Given the description of an element on the screen output the (x, y) to click on. 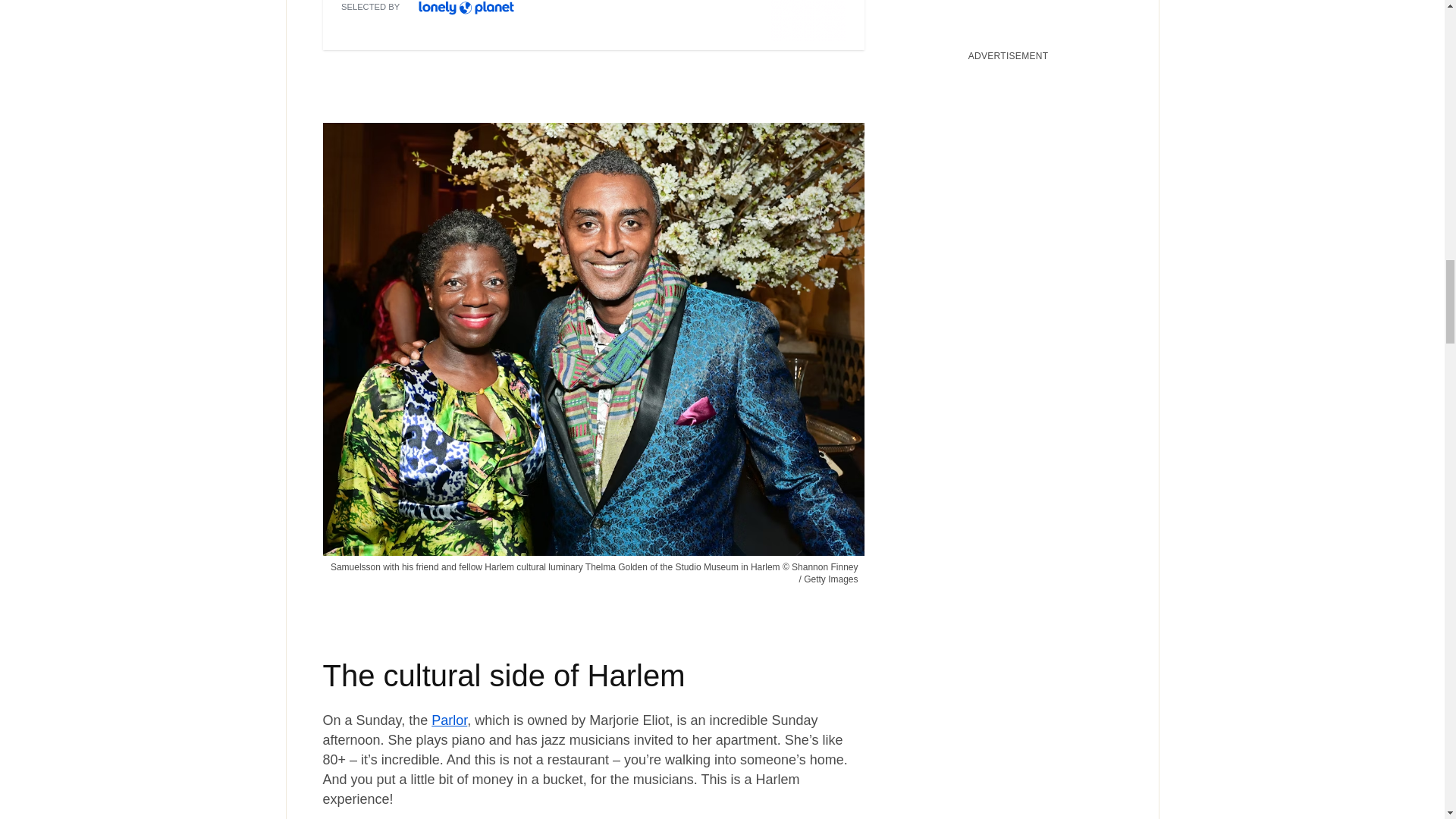
3rd party ad content (592, 20)
Parlor (448, 720)
